Given the description of an element on the screen output the (x, y) to click on. 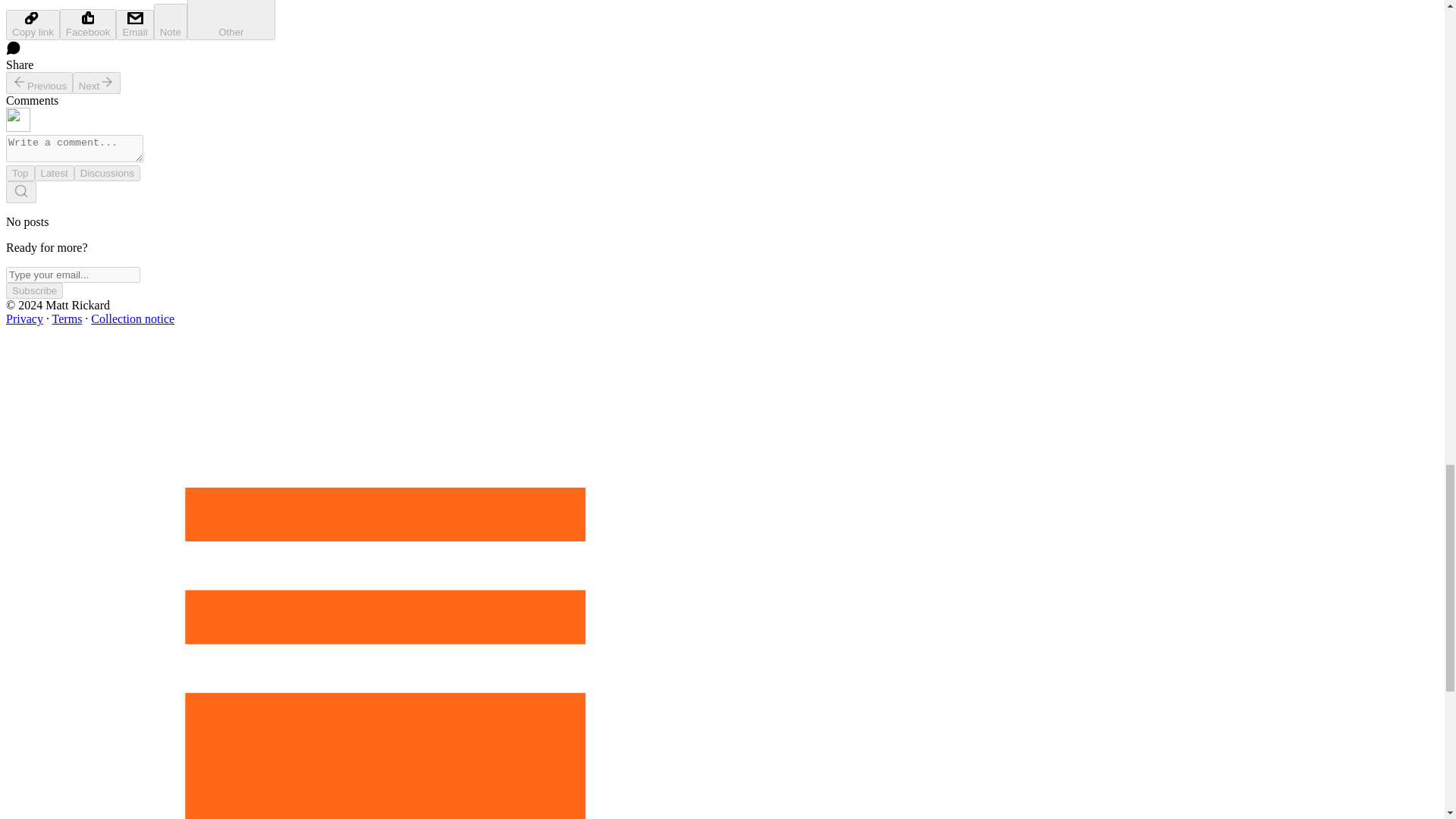
Facebook (87, 24)
Discussions (106, 172)
Previous (38, 83)
Next (96, 83)
Other (231, 20)
Latest (54, 172)
Privacy (24, 318)
Terms (67, 318)
Top (19, 172)
Copy link (32, 24)
Collection notice (132, 318)
Subscribe (33, 290)
Email (134, 24)
Note (170, 22)
